Given the description of an element on the screen output the (x, y) to click on. 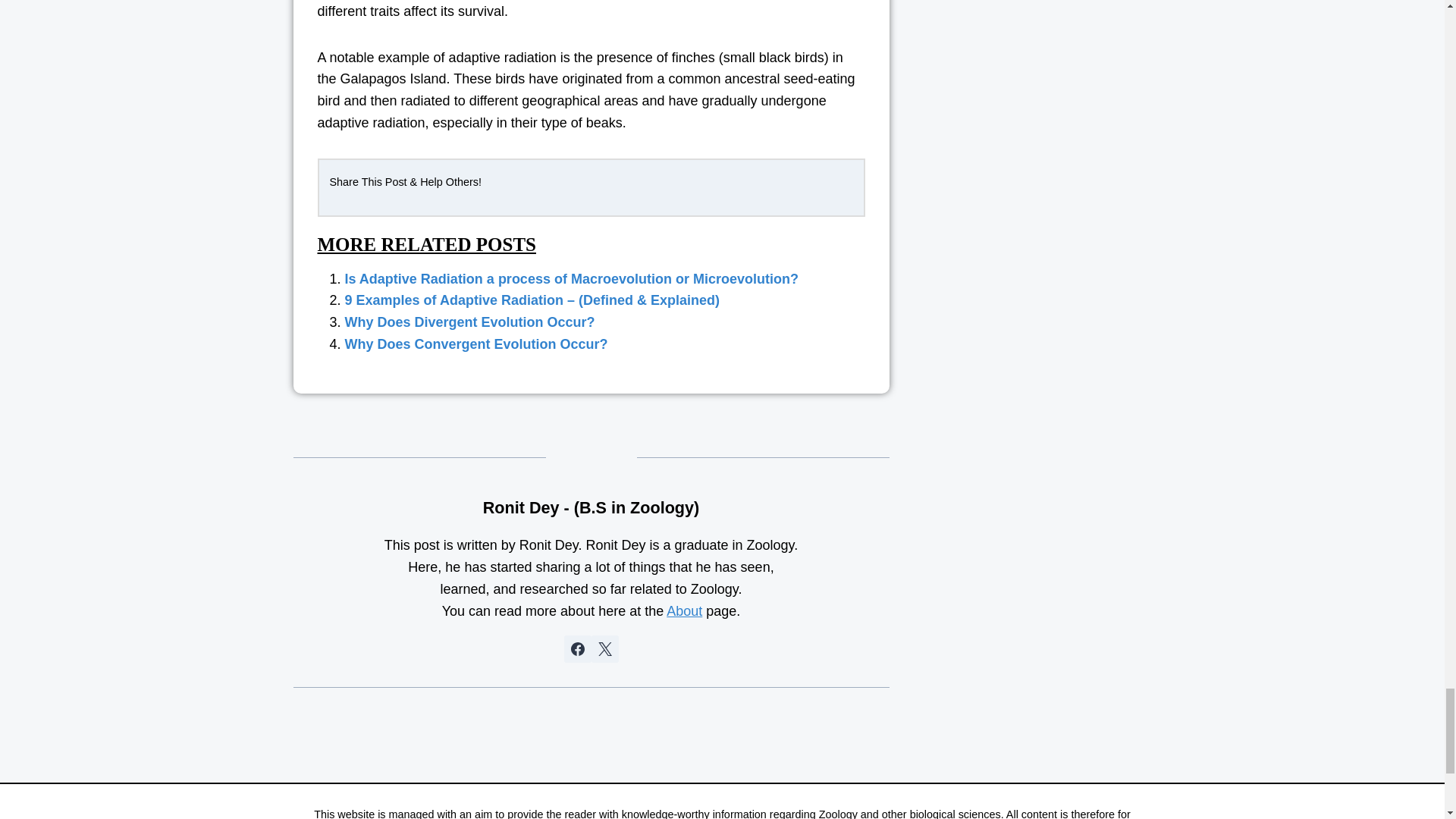
Why Does Divergent Evolution Occur? (468, 322)
Why Does Convergent Evolution Occur? (475, 344)
